Given the description of an element on the screen output the (x, y) to click on. 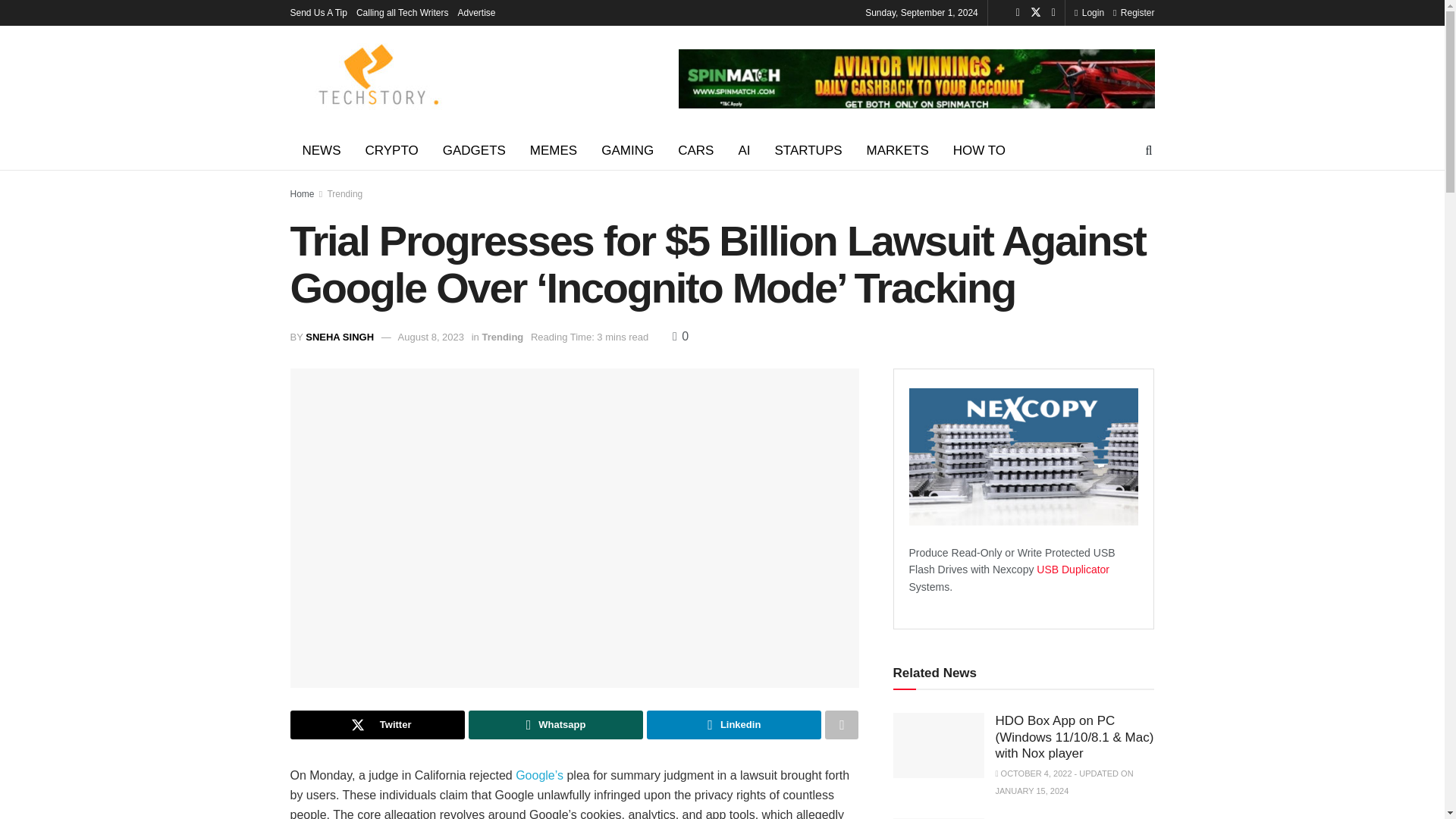
MEMES (553, 150)
AI (743, 150)
Login (1088, 12)
GADGETS (474, 150)
MARKETS (897, 150)
NEWS (320, 150)
Send Us A Tip (317, 12)
Calling all Tech Writers (402, 12)
USB duplicator (1072, 569)
Register (1133, 12)
